Given the description of an element on the screen output the (x, y) to click on. 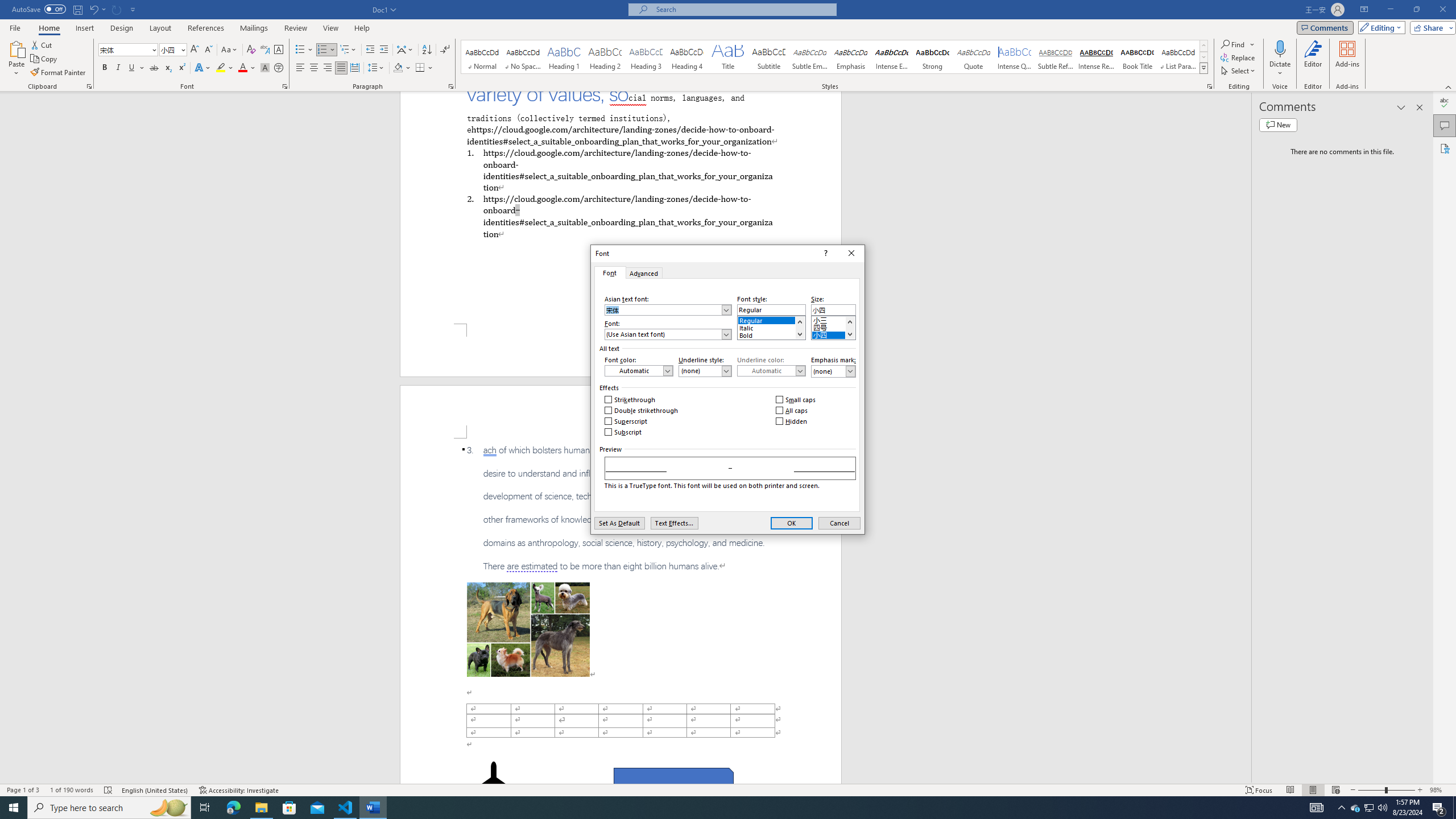
Font (609, 272)
Dictate (1280, 48)
Class: NetUIScrollBar (1245, 437)
Subtle Reference (1055, 56)
Font Color (Automatic) (638, 370)
Double strikethrough (641, 410)
Clear Formatting (250, 49)
Subscript (623, 431)
Size: (833, 309)
References (205, 28)
Underline (131, 67)
Minimize (1390, 9)
Save (77, 9)
AutomationID: QuickStylesGallery (834, 56)
Cancel (839, 522)
